Given the description of an element on the screen output the (x, y) to click on. 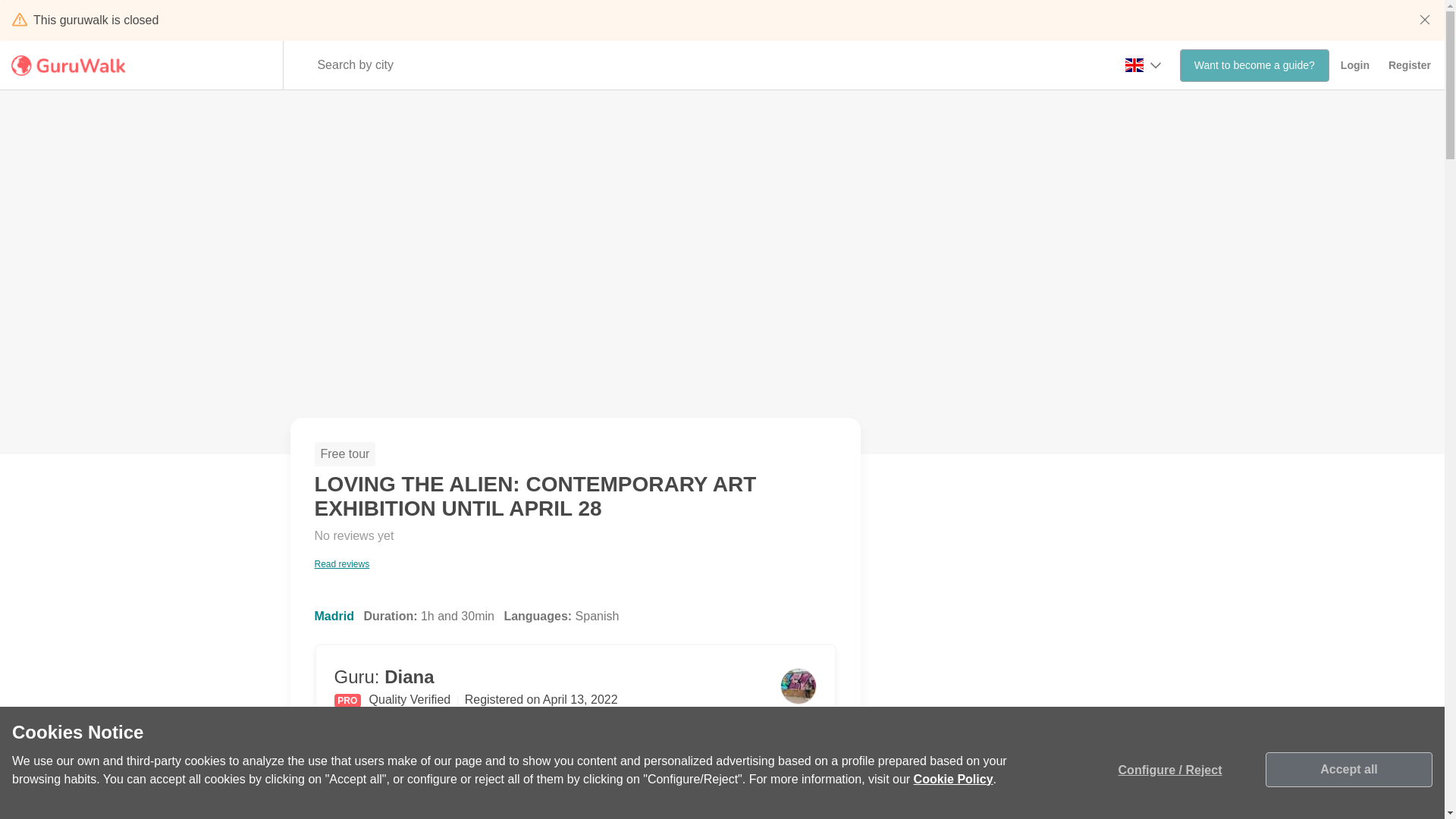
GuruWalk - The best free tours around the world (71, 65)
Madrid (333, 615)
Want to become a guide? (1254, 65)
Diana (353, 548)
Register (408, 676)
